Given the description of an element on the screen output the (x, y) to click on. 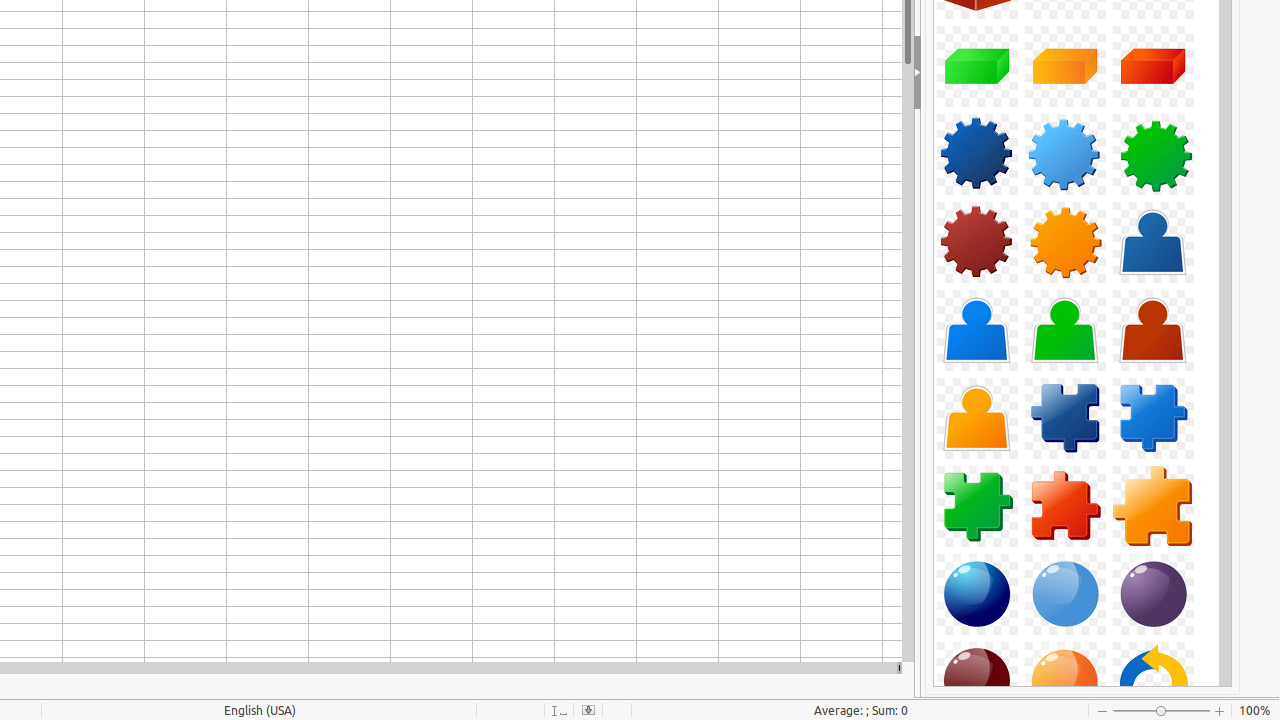
Component-PuzzlePiece03-Green Element type: list-item (977, 506)
Component-Gear05-Orange Element type: list-item (1065, 242)
Component-PuzzlePiece04-Red Element type: list-item (1065, 506)
Component-Sphere02-LightBlue Element type: list-item (1065, 594)
Component-Person03-Green Element type: list-item (1065, 330)
